Given the description of an element on the screen output the (x, y) to click on. 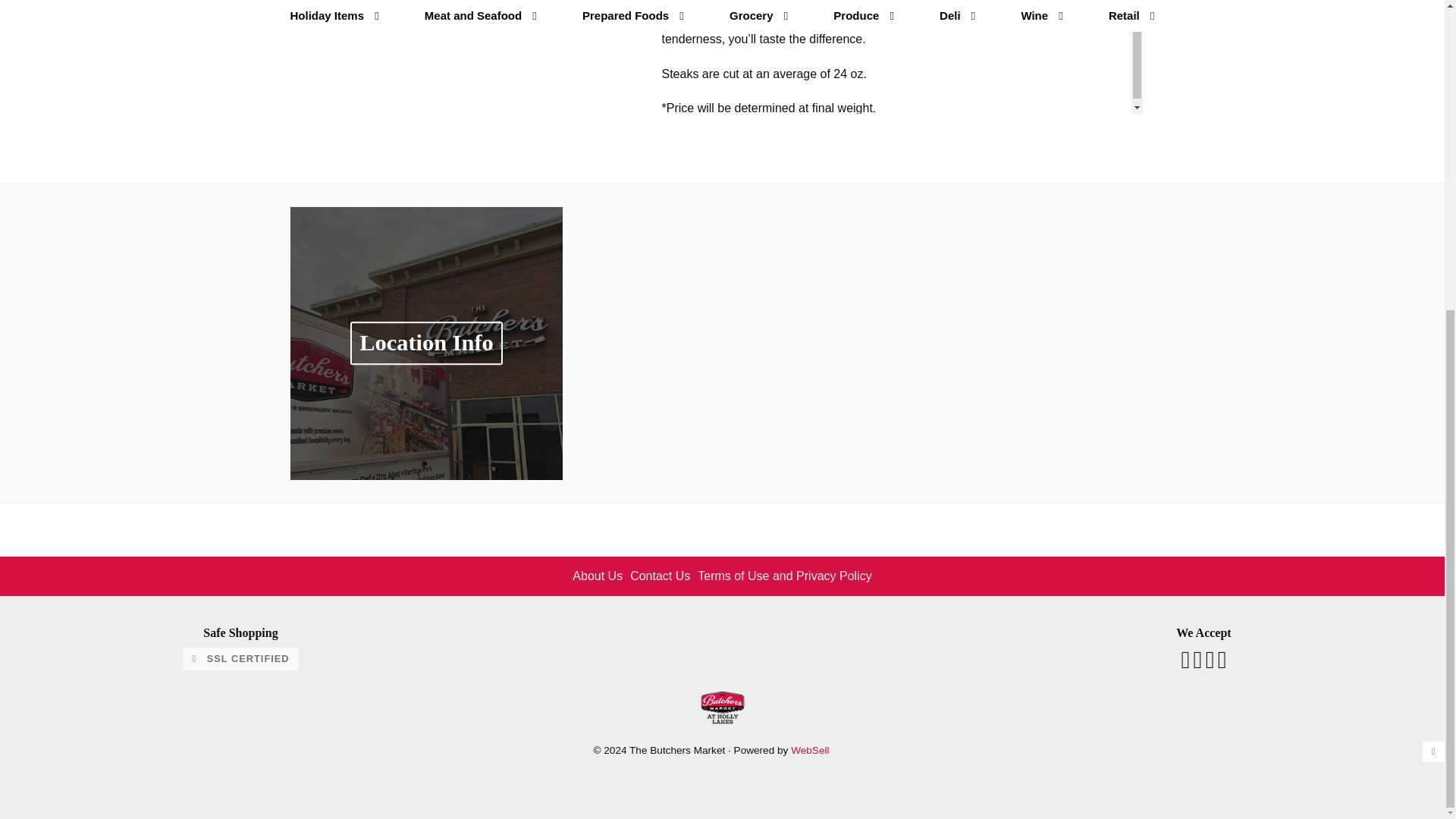
T-Bone Steak - USDA Choice (469, 6)
